Given the description of an element on the screen output the (x, y) to click on. 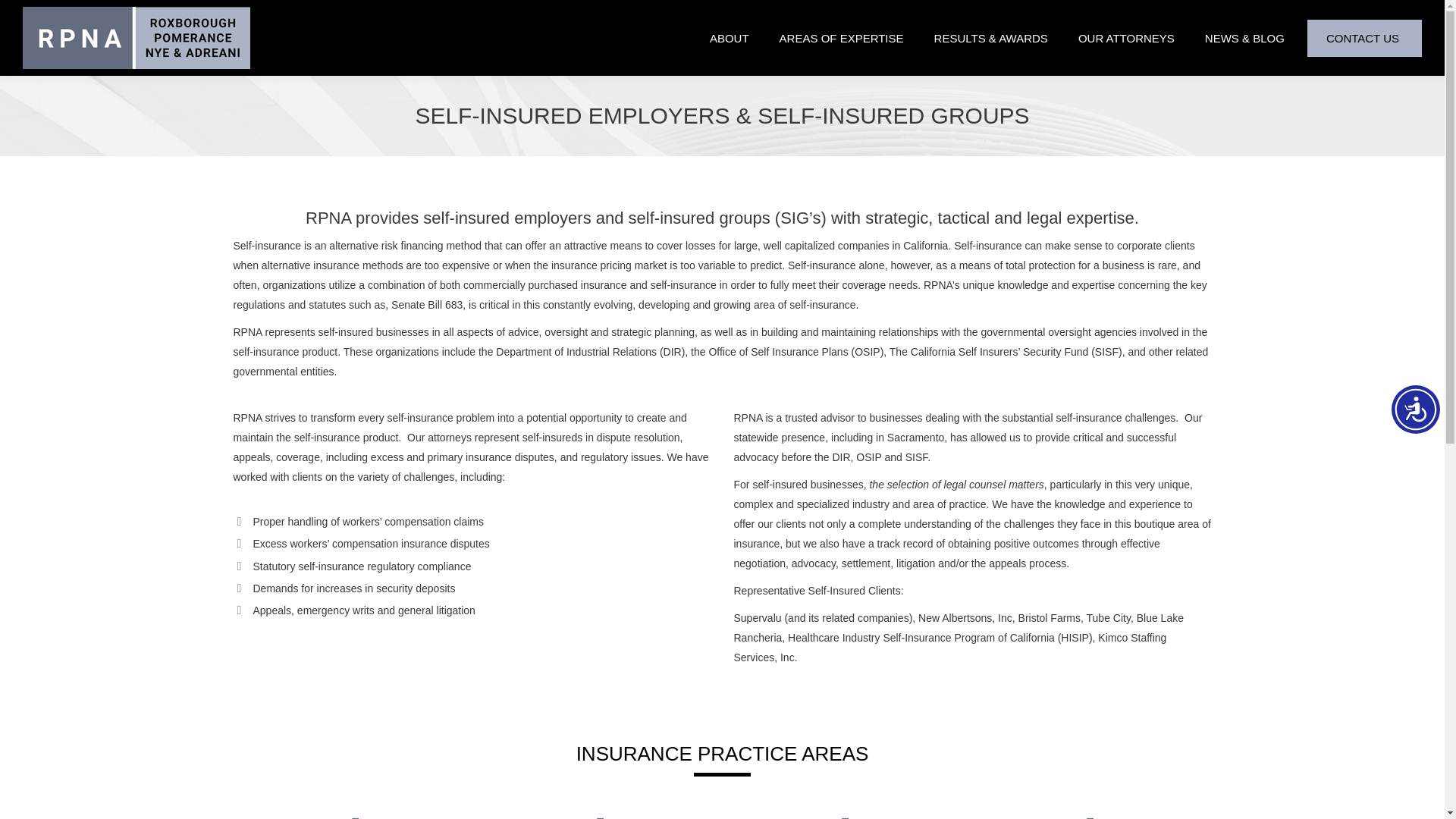
AREAS OF EXPERTISE (848, 37)
ABOUT (736, 37)
OUR ATTORNEYS (1133, 37)
Accessibility Menu (1415, 409)
CONTACT US (1370, 37)
